Given the description of an element on the screen output the (x, y) to click on. 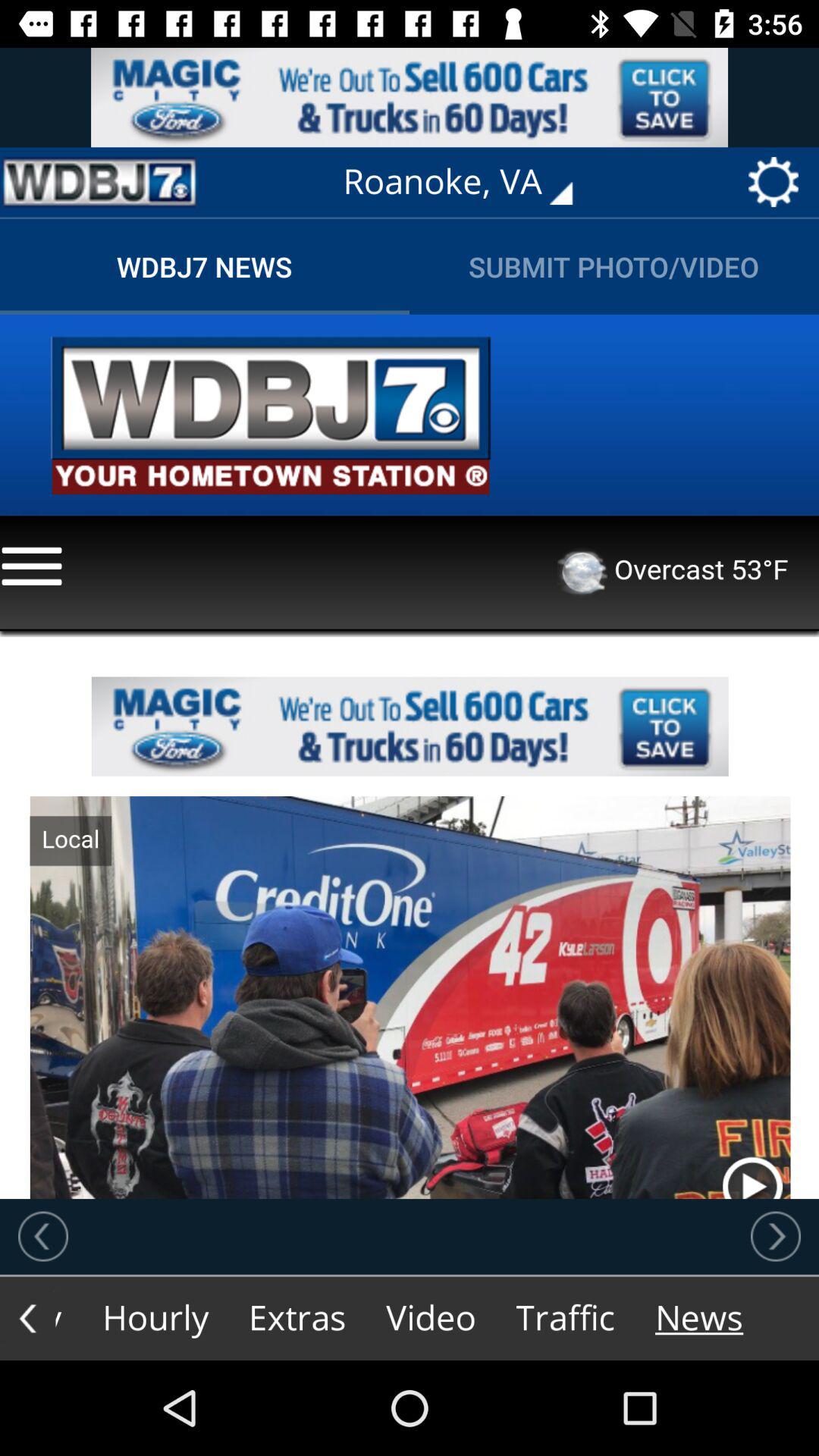
move to next (775, 1236)
